Given the description of an element on the screen output the (x, y) to click on. 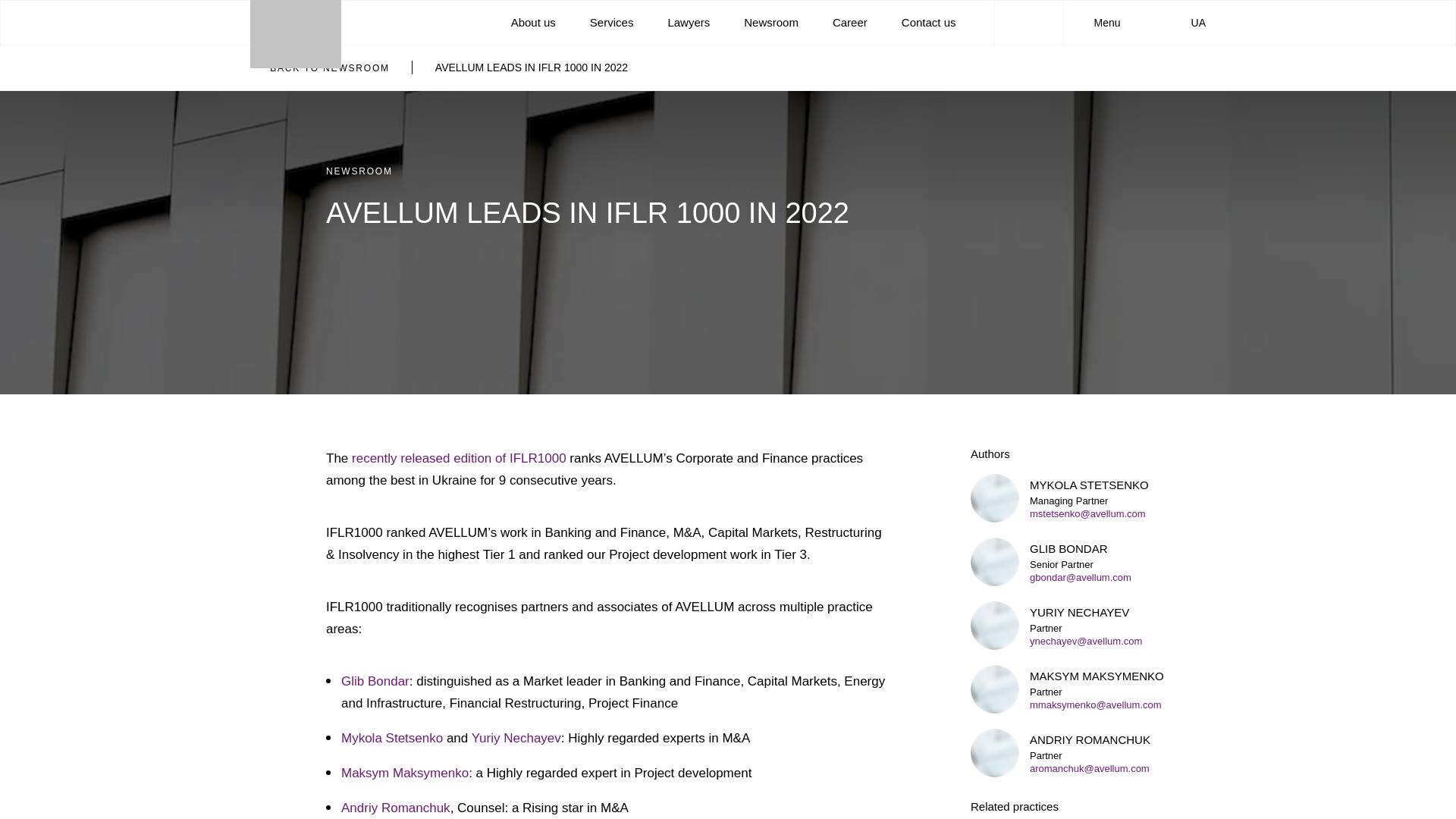
Maksym Maksymenko (404, 772)
Newsroom (770, 21)
UA (1190, 22)
Services (611, 21)
Mykola Stetsenko (391, 738)
Andriy Romanchuk (394, 807)
Glib Bondar (374, 681)
Contact us (928, 21)
About us (533, 21)
recently released edition of IFLR1000  (460, 458)
BACK TO NEWSROOM (320, 68)
Yuriy Nechayev (515, 738)
Lawyers (688, 21)
Career (849, 21)
